Given the description of an element on the screen output the (x, y) to click on. 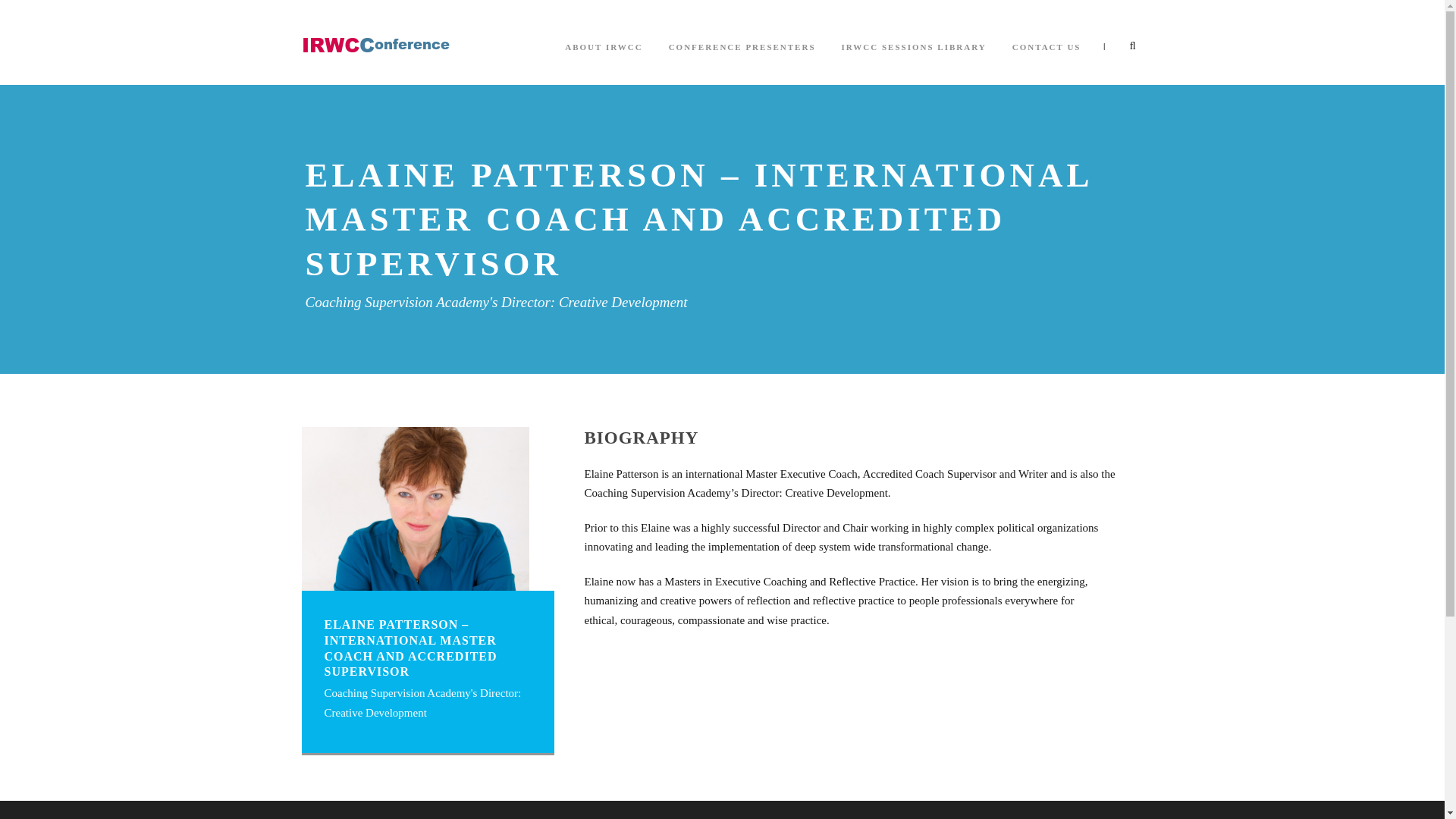
CONFERENCE PRESENTERS (741, 61)
IRWCC SESSIONS LIBRARY (914, 61)
CONTACT US (1046, 61)
ABOUT IRWCC (603, 61)
